Given the description of an element on the screen output the (x, y) to click on. 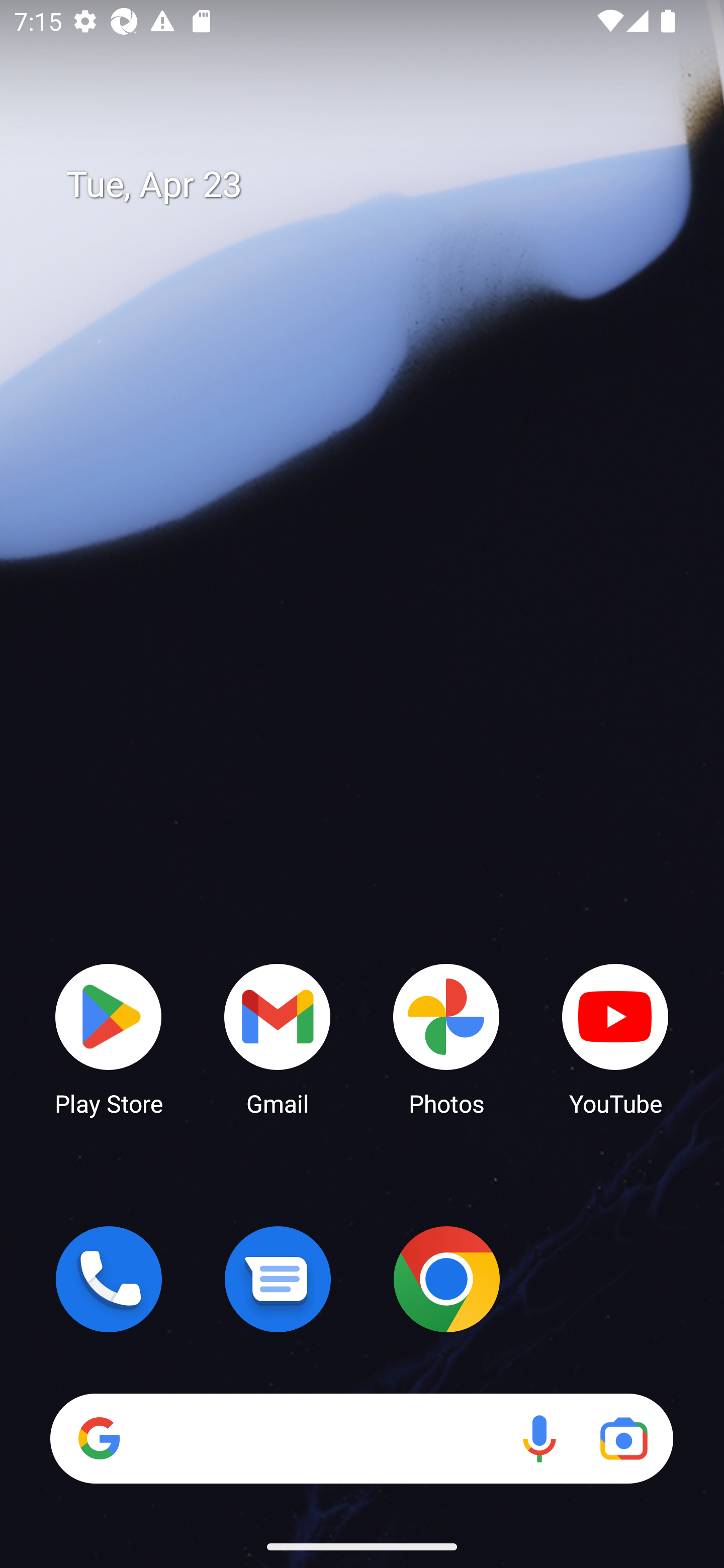
Tue, Apr 23 (375, 184)
Play Store (108, 1038)
Gmail (277, 1038)
Photos (445, 1038)
YouTube (615, 1038)
Phone (108, 1279)
Messages (277, 1279)
Chrome (446, 1279)
Search Voice search Google Lens (361, 1438)
Voice search (539, 1438)
Google Lens (623, 1438)
